Given the description of an element on the screen output the (x, y) to click on. 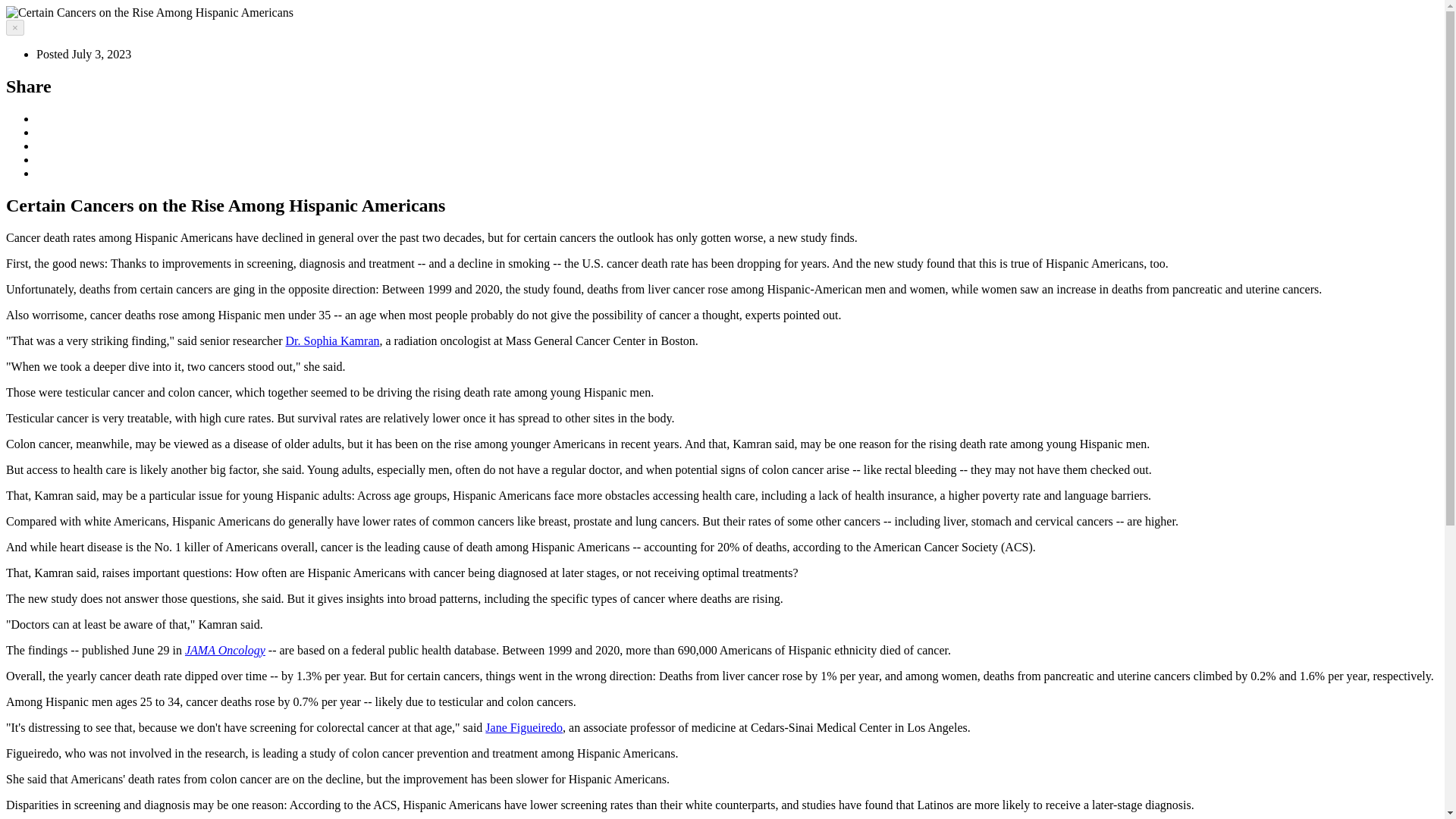
JAMA Oncology (224, 649)
Dr. Sophia Kamran (331, 340)
Jane Figueiredo (523, 727)
